Given the description of an element on the screen output the (x, y) to click on. 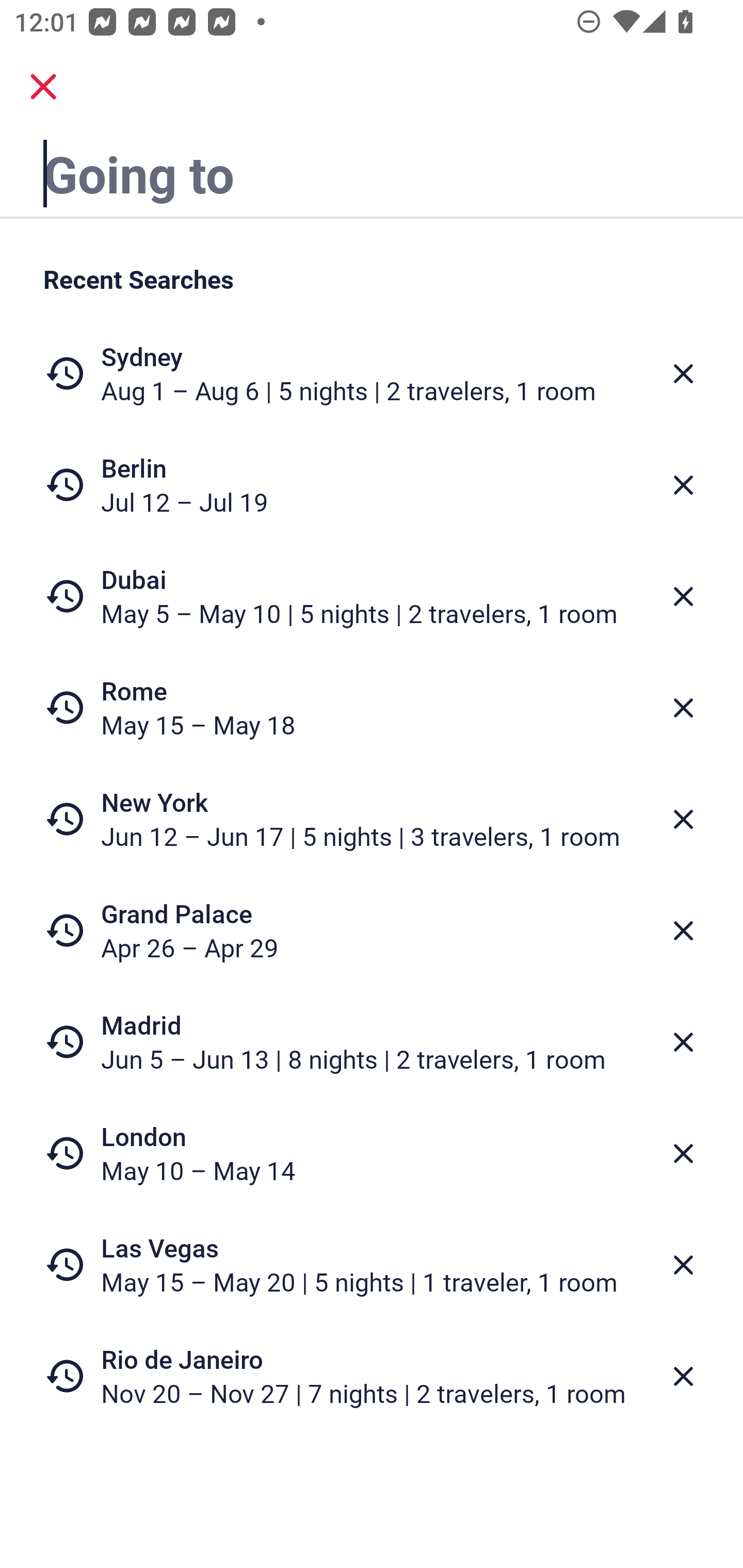
close. (43, 86)
Delete from recent searches (683, 373)
Berlin Jul 12 – Jul 19 (371, 484)
Delete from recent searches (683, 485)
Delete from recent searches (683, 596)
Rome May 15 – May 18 (371, 707)
Delete from recent searches (683, 707)
Delete from recent searches (683, 819)
Grand Palace Apr 26 – Apr 29 (371, 930)
Delete from recent searches (683, 930)
Delete from recent searches (683, 1041)
London May 10 – May 14 (371, 1152)
Delete from recent searches (683, 1153)
Delete from recent searches (683, 1265)
Delete from recent searches (683, 1376)
